Given the description of an element on the screen output the (x, y) to click on. 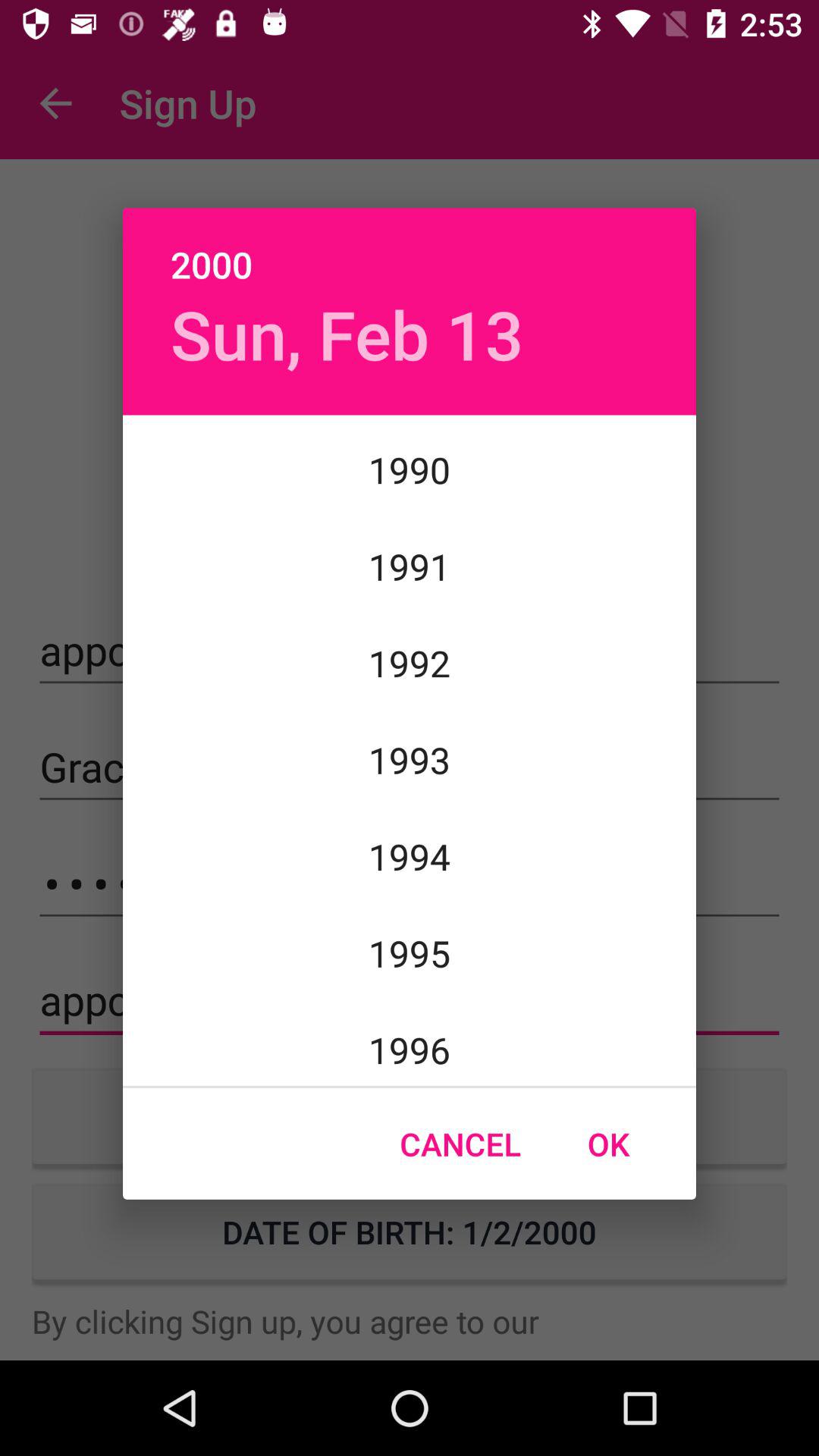
tap the icon below the 1996 (608, 1143)
